Given the description of an element on the screen output the (x, y) to click on. 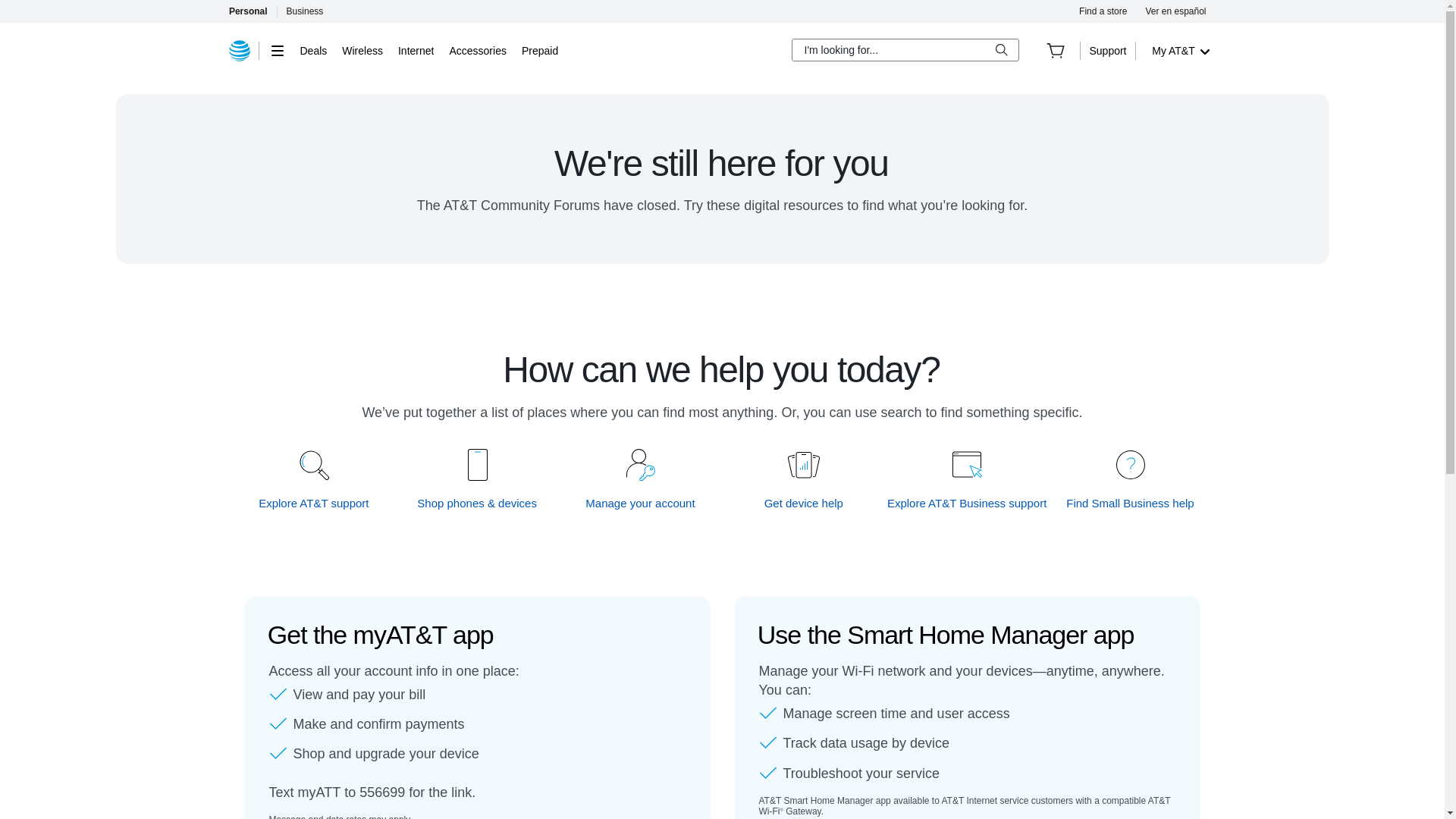
Search (1000, 50)
Accessories (476, 50)
Internet (415, 50)
Manage your account (640, 503)
Personal (247, 10)
Find a store (1102, 10)
Business (305, 10)
Support (1107, 50)
Find Small Business help (1130, 503)
Get device help (803, 503)
Wireless (362, 50)
Support (1107, 50)
Prepaid (539, 50)
